Given the description of an element on the screen output the (x, y) to click on. 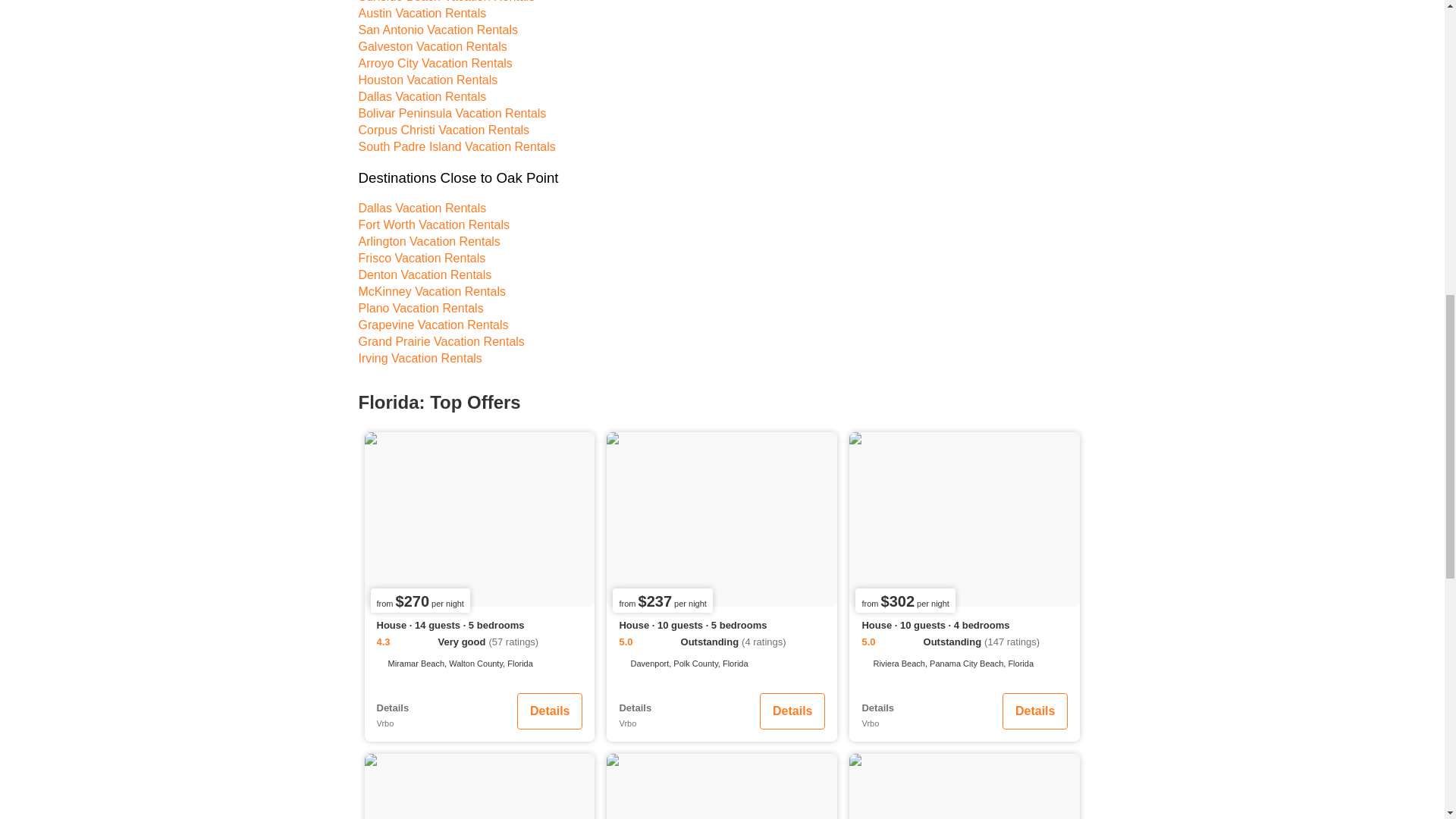
Corpus Christi Vacation Rentals (443, 130)
Dallas Vacation Rentals (422, 96)
Fort Worth Vacation Rentals (433, 225)
Frisco Vacation Rentals (421, 258)
Bolivar Peninsula Vacation Rentals (452, 113)
Surfside Beach Vacation Rentals (446, 2)
Grand Prairie Vacation Rentals (441, 341)
Plano Vacation Rentals (420, 308)
Grapevine Vacation Rentals (433, 324)
Austin Vacation Rentals (422, 13)
